Given the description of an element on the screen output the (x, y) to click on. 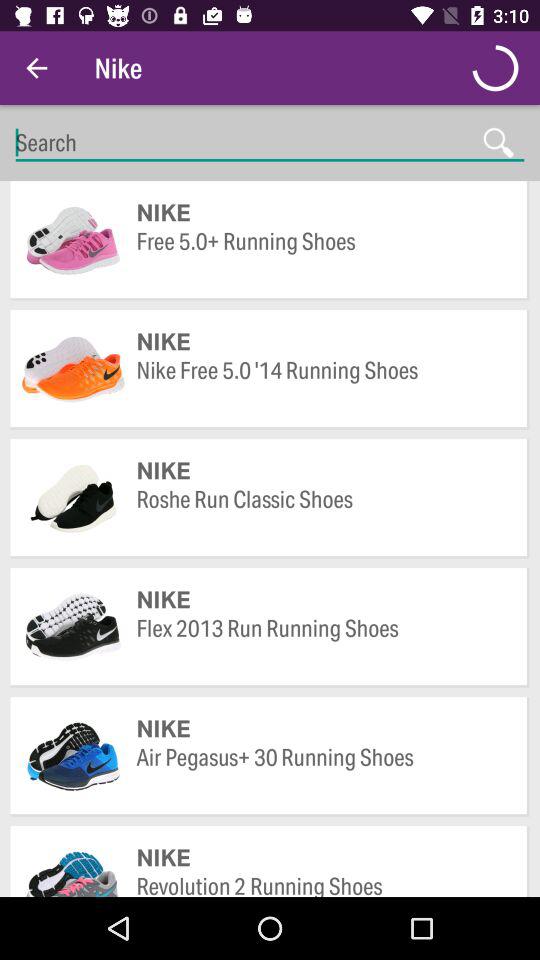
click icon below the nike item (322, 772)
